Given the description of an element on the screen output the (x, y) to click on. 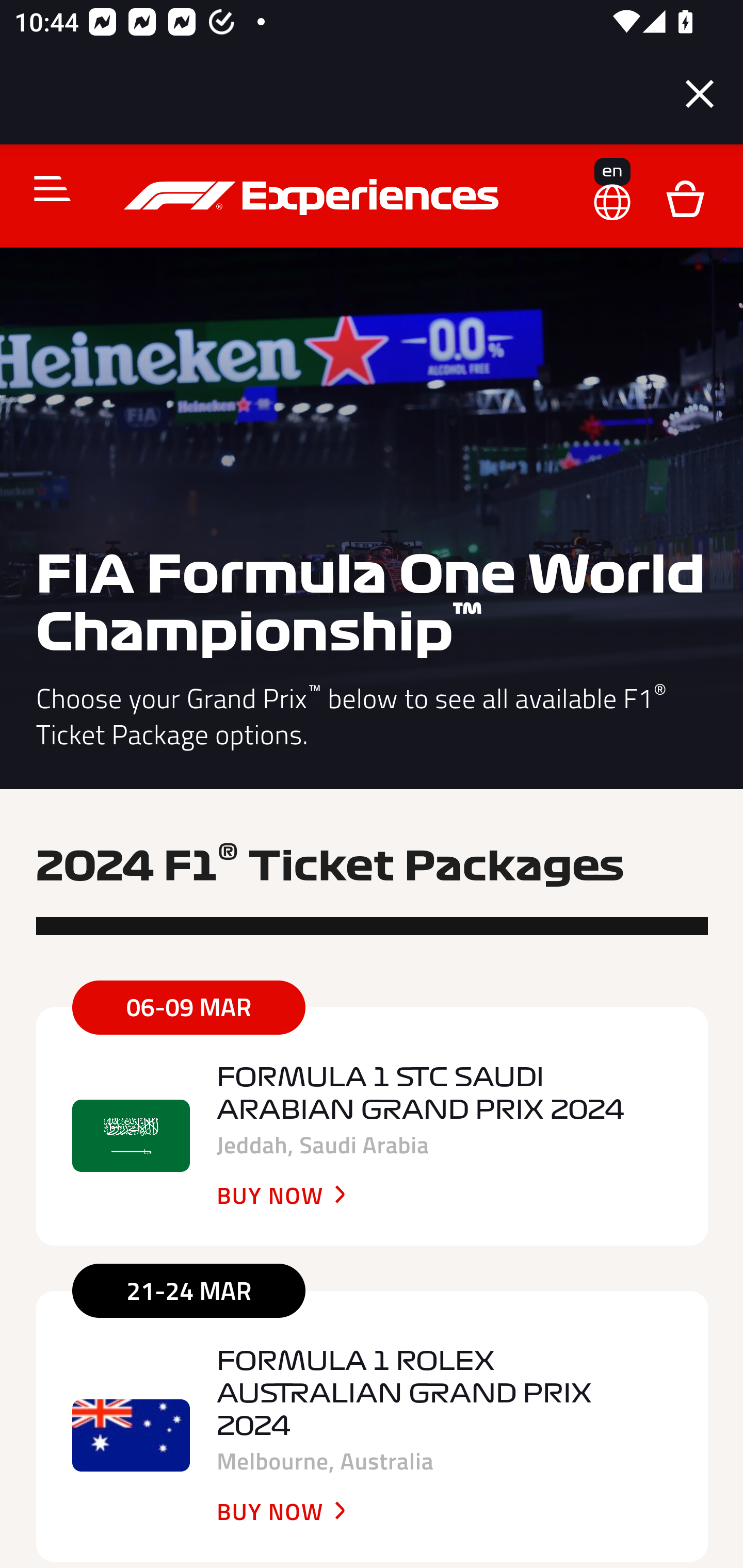
Close (699, 93)
Toggle navigation C (43, 188)
D (684, 197)
f1experiences (313, 197)
